Given the description of an element on the screen output the (x, y) to click on. 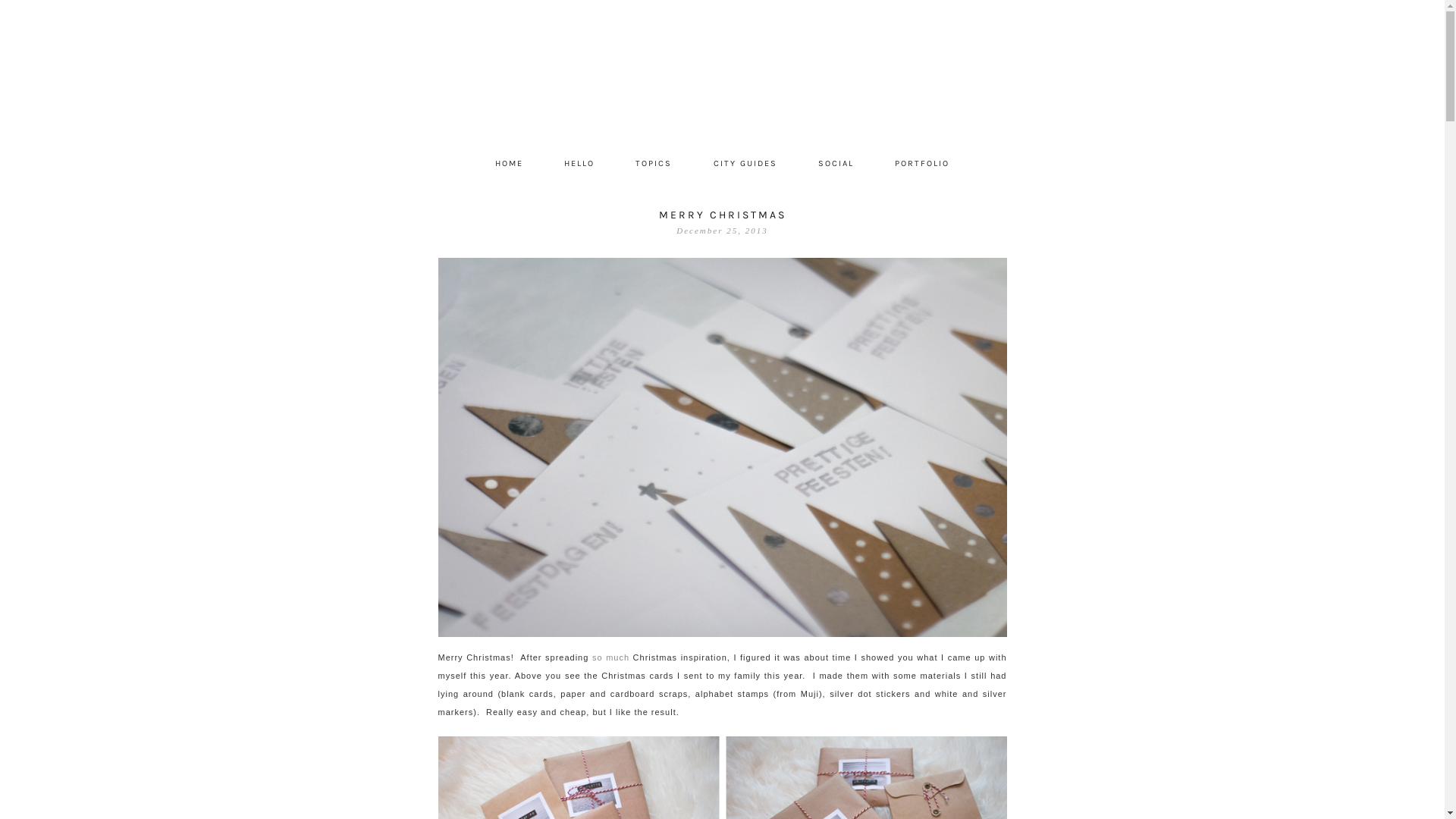
TOPICS Element type: text (653, 163)
MERRY CHRISTMAS Element type: text (721, 214)
Search Element type: text (34, 8)
Skip to content Element type: text (436, 150)
so Element type: text (597, 657)
PORTFOLIO Element type: text (921, 163)
much Element type: text (617, 657)
HOME Element type: text (509, 163)
CITY GUIDES Element type: text (745, 163)
AU PAYS DES MERVEILLES Element type: text (722, 75)
HELLO Element type: text (579, 163)
SOCIAL Element type: text (835, 163)
